Given the description of an element on the screen output the (x, y) to click on. 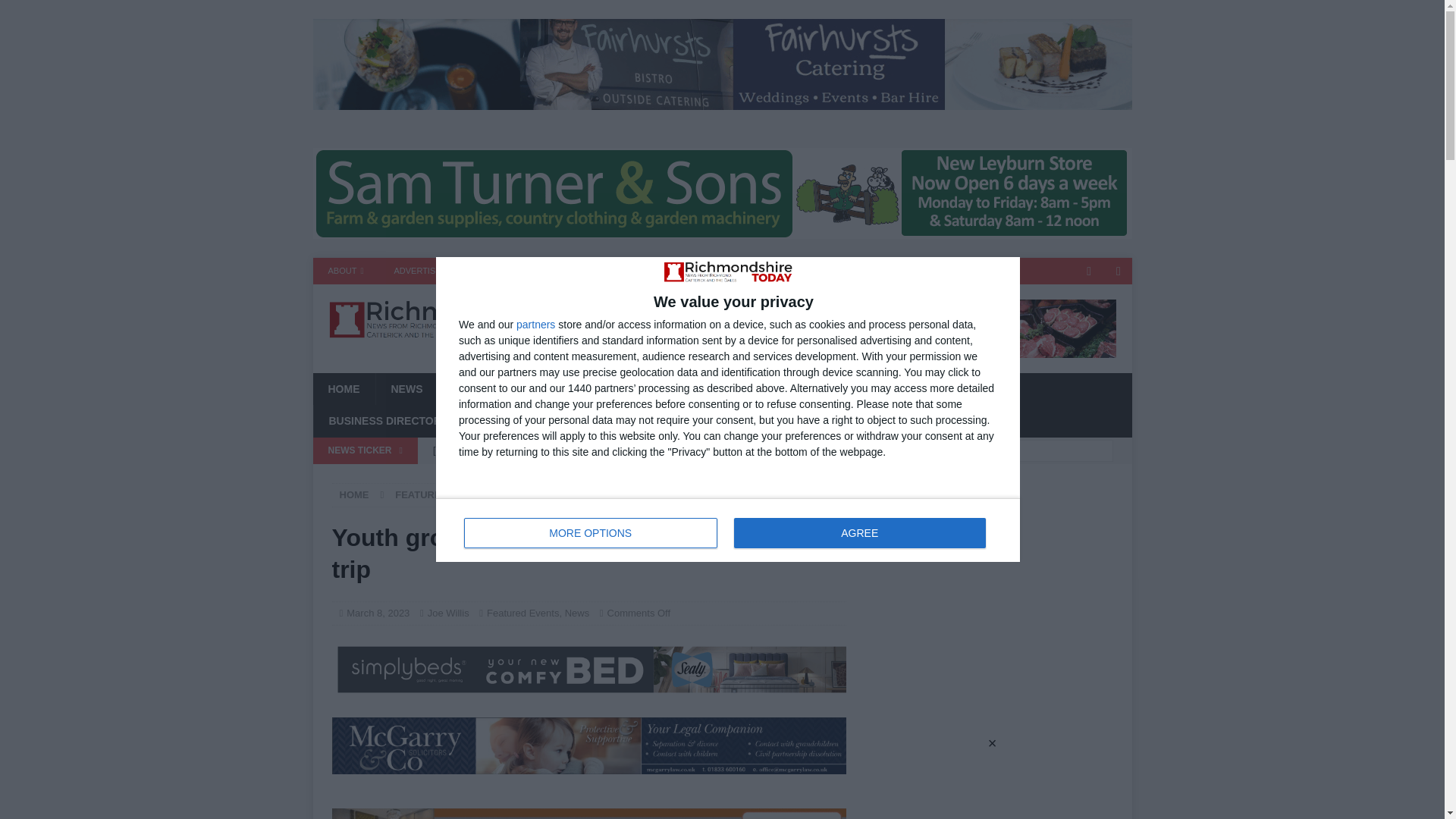
CONTACT (491, 270)
Aske digital agency celebrates 15th anniversary (634, 475)
MORE OPTIONS (590, 532)
MAGAZINE (566, 270)
AGREE (859, 532)
ABOUT (345, 270)
ADVERTISE (416, 270)
partners (535, 324)
Farm vehicle stolen from field near Ravensworth (634, 450)
